Given the description of an element on the screen output the (x, y) to click on. 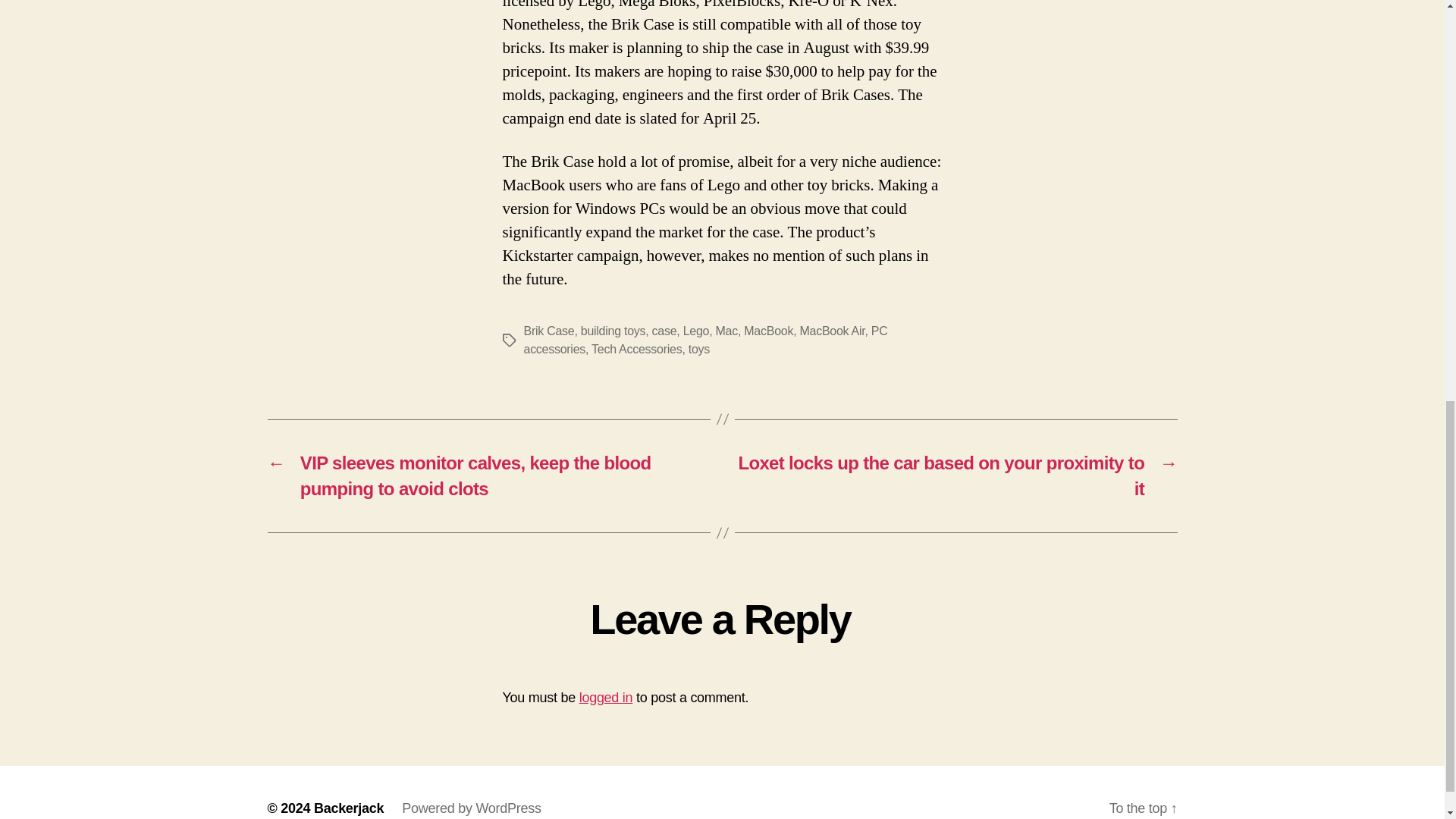
case (664, 330)
PC accessories (704, 339)
MacBook (768, 330)
Lego (696, 330)
Tech Accessories (636, 349)
Brik Case (547, 330)
Powered by WordPress (470, 807)
toys (699, 349)
building toys (612, 330)
logged in (606, 697)
MacBook Air (831, 330)
Backerjack (349, 807)
Mac (727, 330)
